Given the description of an element on the screen output the (x, y) to click on. 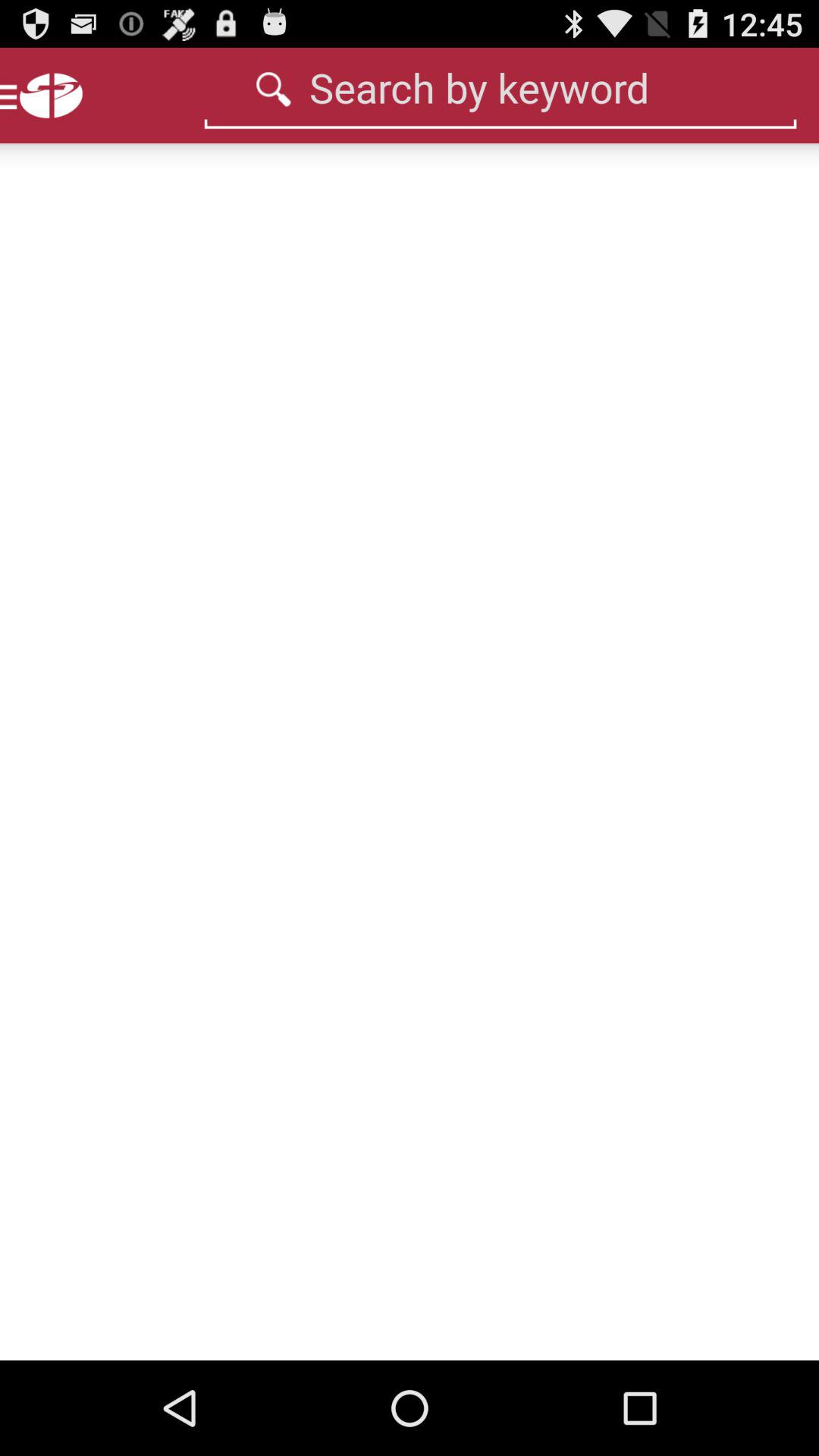
search by keyword (500, 87)
